Given the description of an element on the screen output the (x, y) to click on. 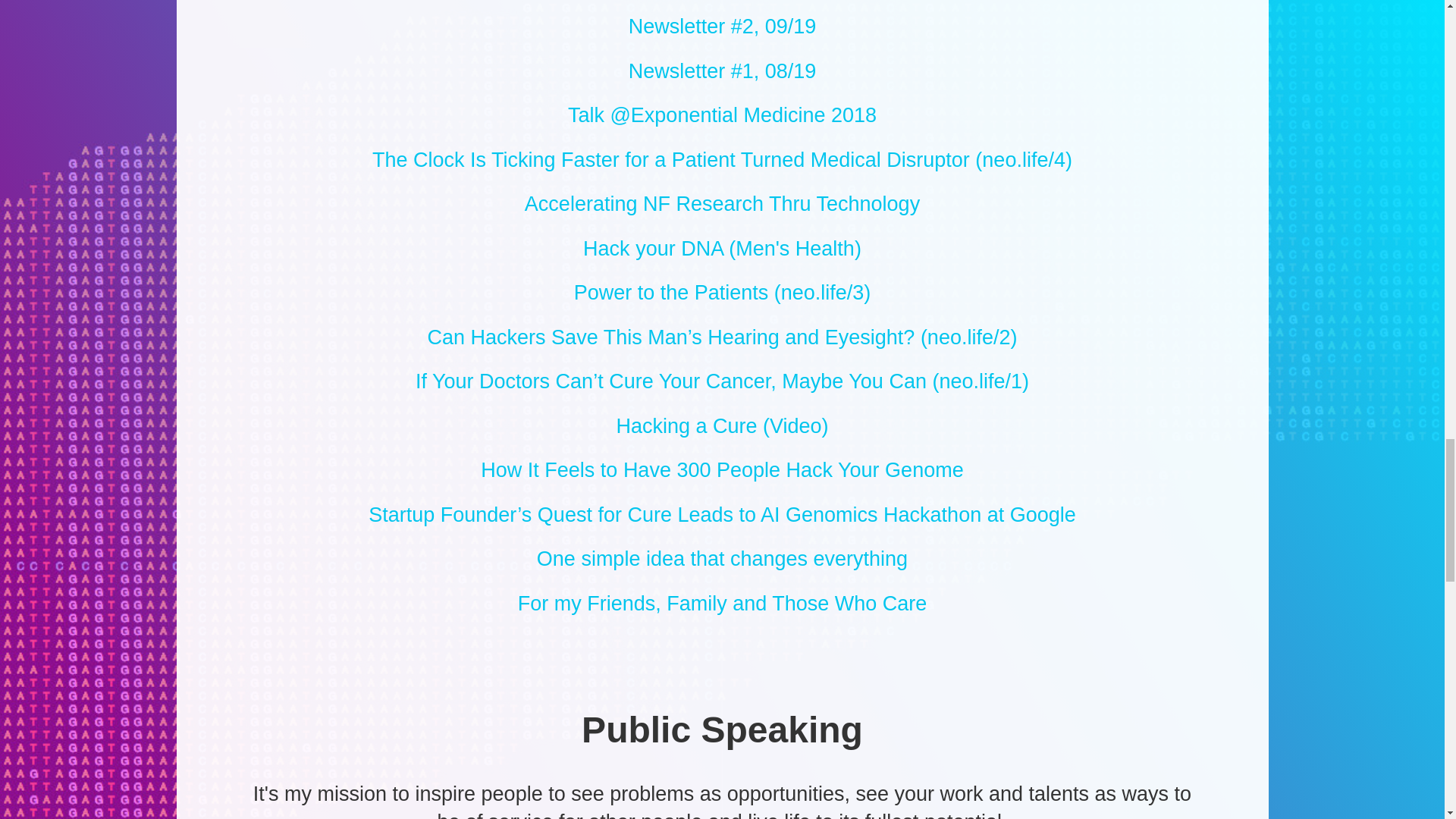
Accelerating NF Research Thru Technology (721, 204)
One simple idea that changes everything (721, 558)
For my Friends, Family and Those Who Care (721, 603)
How It Feels to Have 300 People Hack Your Genome (721, 470)
